Given the description of an element on the screen output the (x, y) to click on. 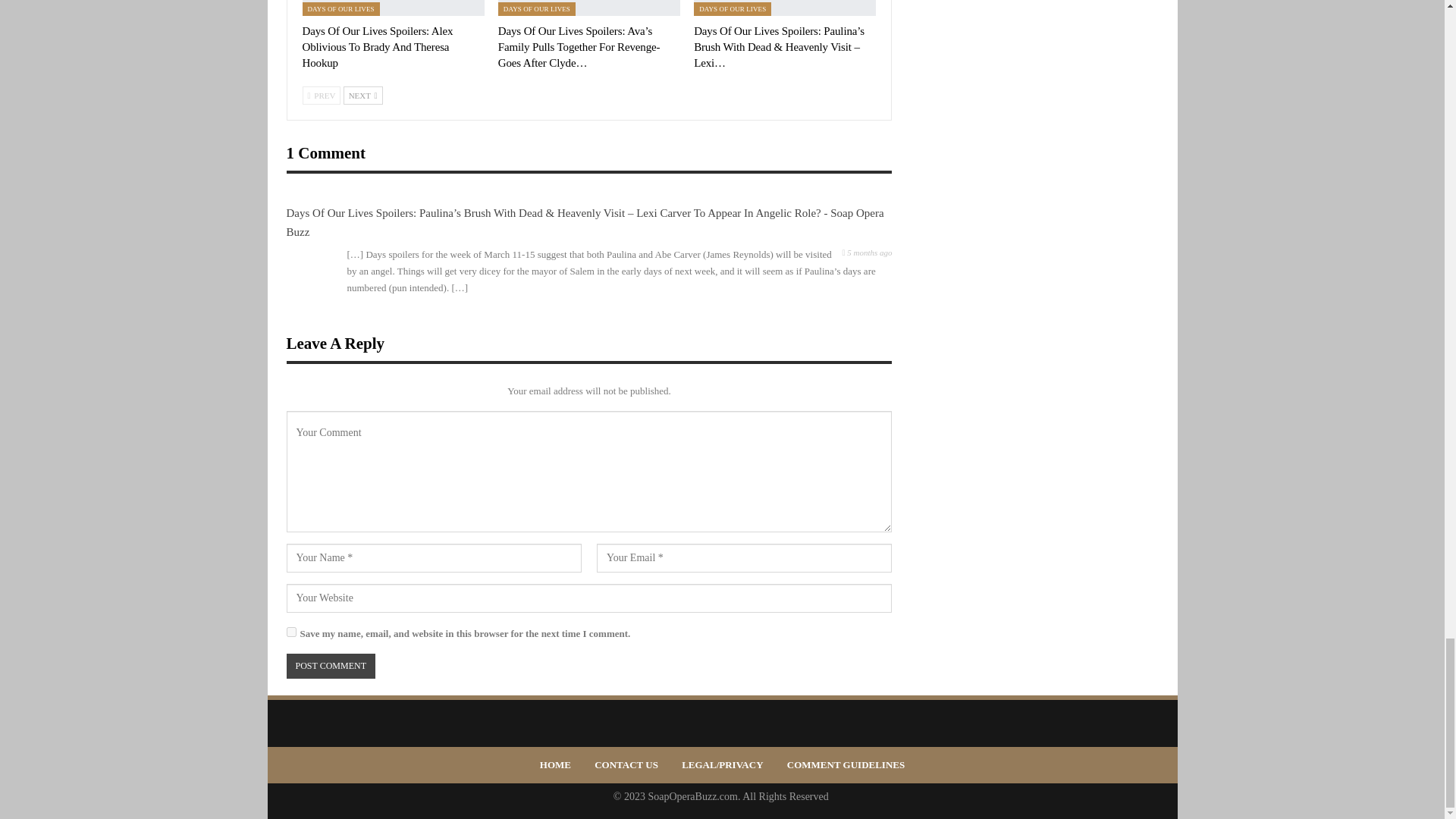
yes (291, 632)
Post Comment (330, 665)
